Given the description of an element on the screen output the (x, y) to click on. 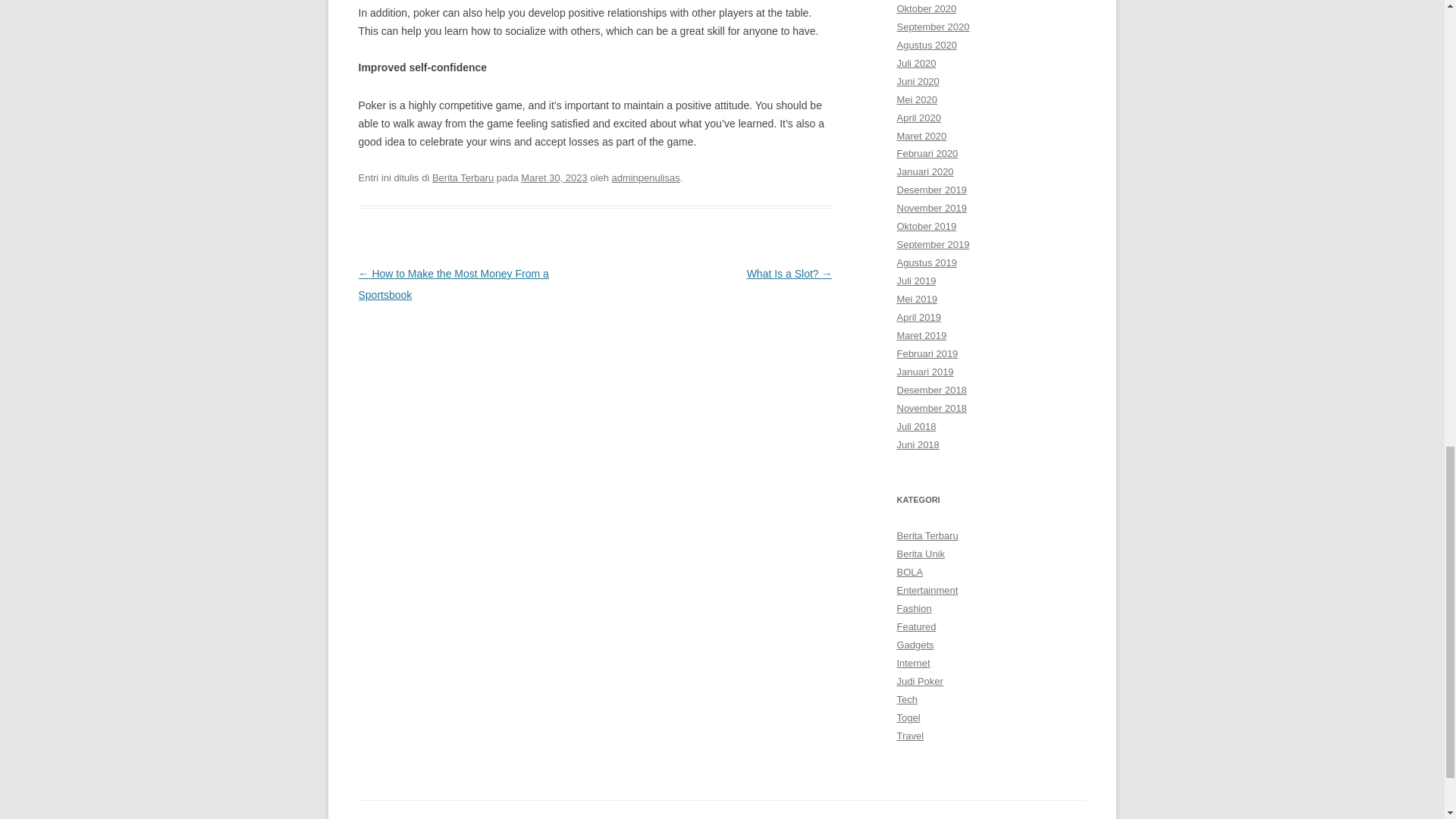
Maret 30, 2023 (553, 177)
Berita Terbaru (462, 177)
8:35 pm (553, 177)
Lihat semua tulisan oleh adminpenulisas (645, 177)
Featured posts (916, 626)
adminpenulisas (645, 177)
